Given the description of an element on the screen output the (x, y) to click on. 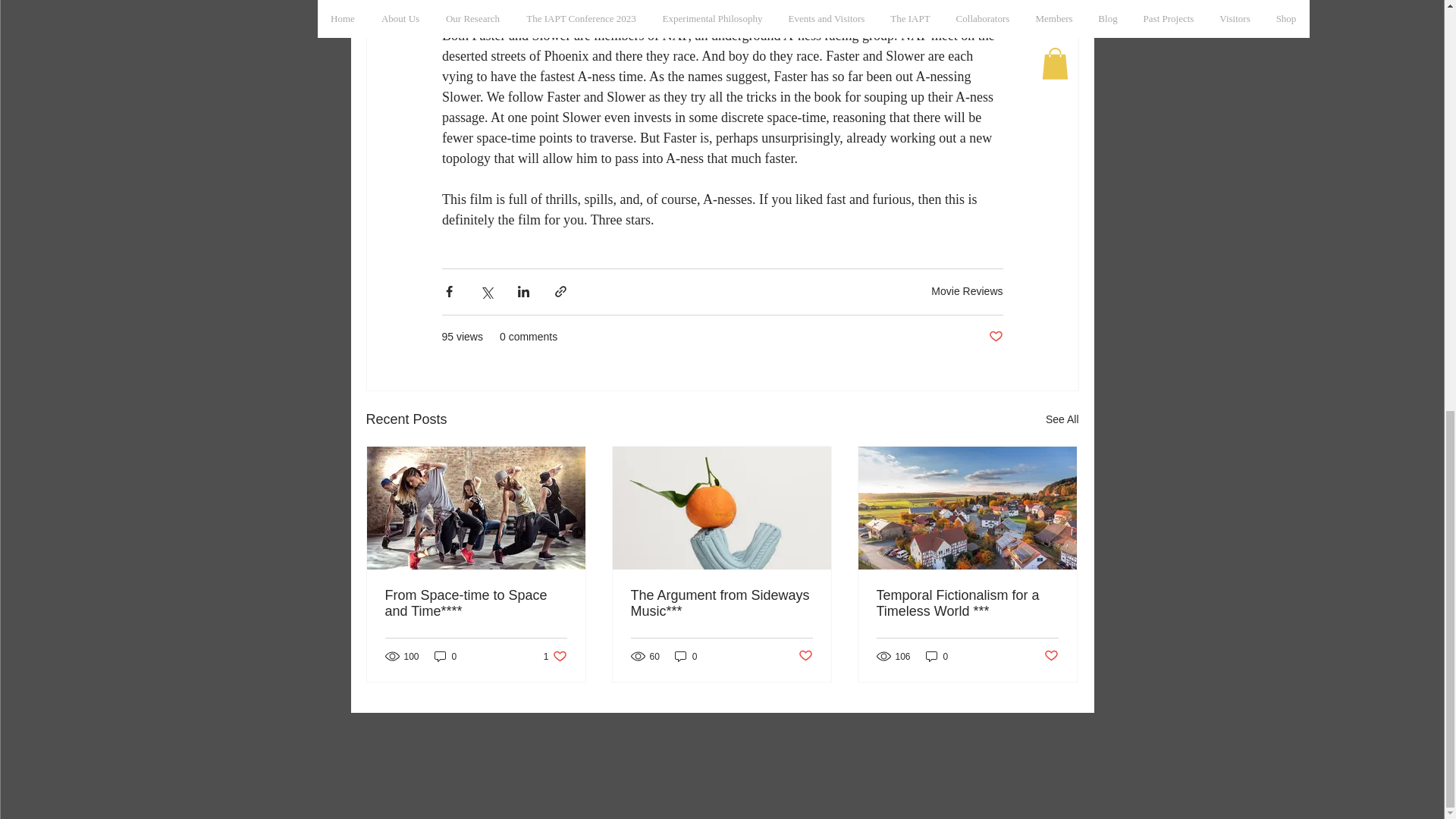
Post not marked as liked (804, 656)
Movie Reviews (967, 291)
Post not marked as liked (995, 336)
See All (1061, 419)
0 (445, 656)
0 (555, 656)
